Given the description of an element on the screen output the (x, y) to click on. 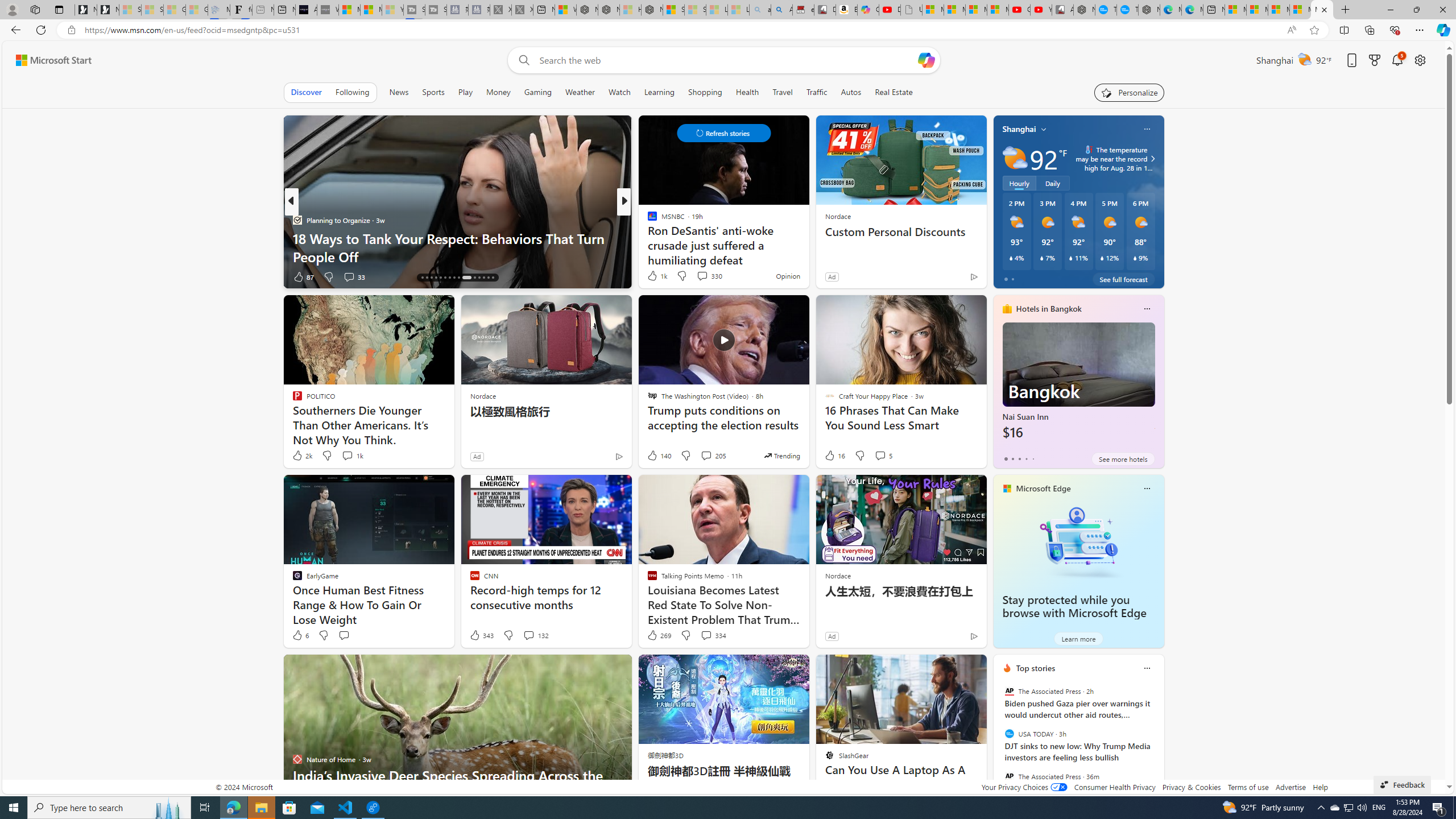
Copilot (Ctrl+Shift+.) (1442, 29)
140 Like (658, 455)
Nordace - My Account (1083, 9)
View comments 1k Comment (352, 455)
Watch (619, 92)
Address and search bar (680, 29)
Class: weather-current-precipitation-glyph (1134, 257)
497 Like (654, 276)
What's the best AI voice generator? - voice.ai - Sleeping (327, 9)
Money (498, 92)
Hotels in Bangkok (1048, 308)
View comments 96 Comment (703, 276)
